Given the description of an element on the screen output the (x, y) to click on. 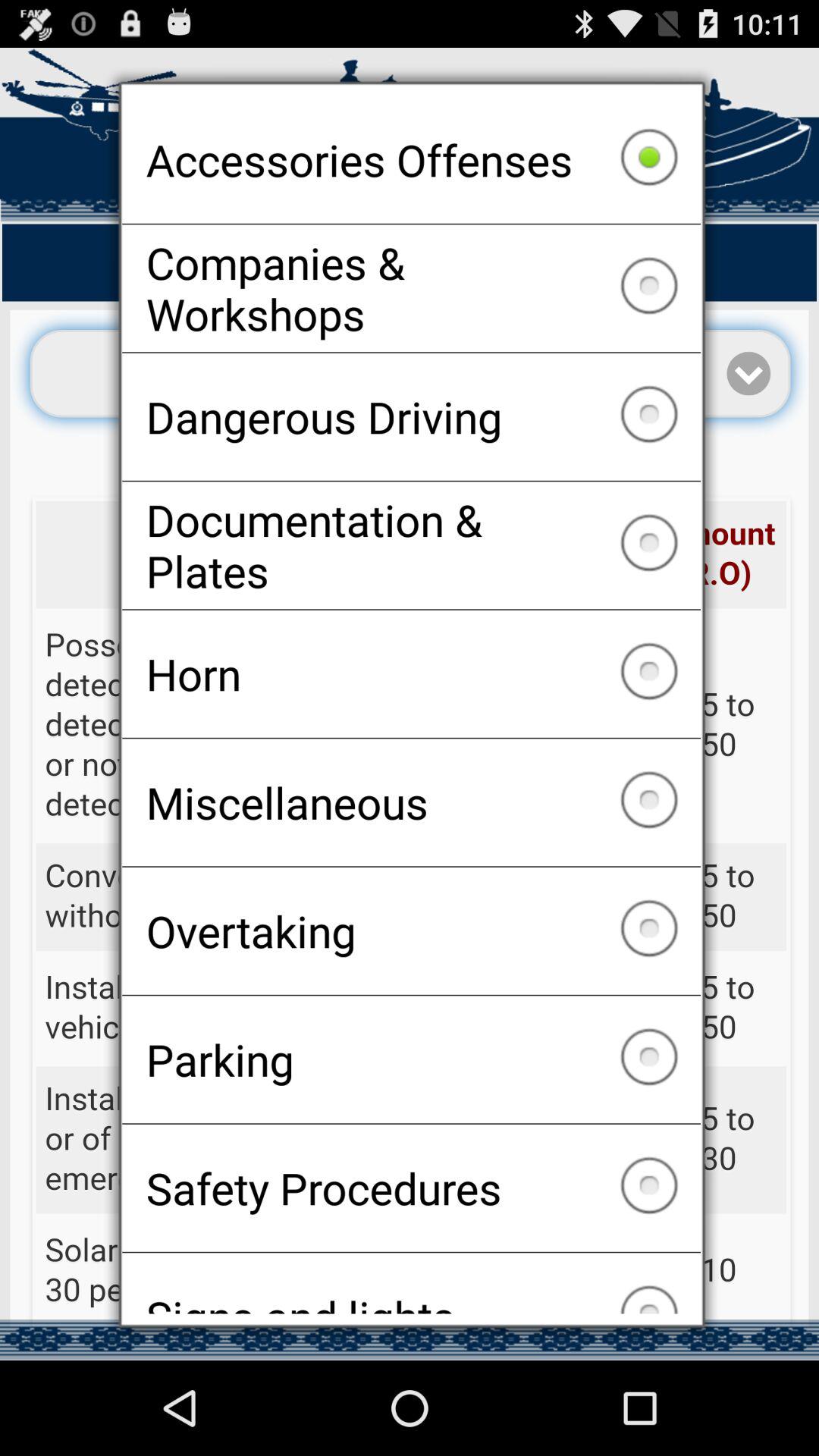
launch icon above the miscellaneous (411, 673)
